Given the description of an element on the screen output the (x, y) to click on. 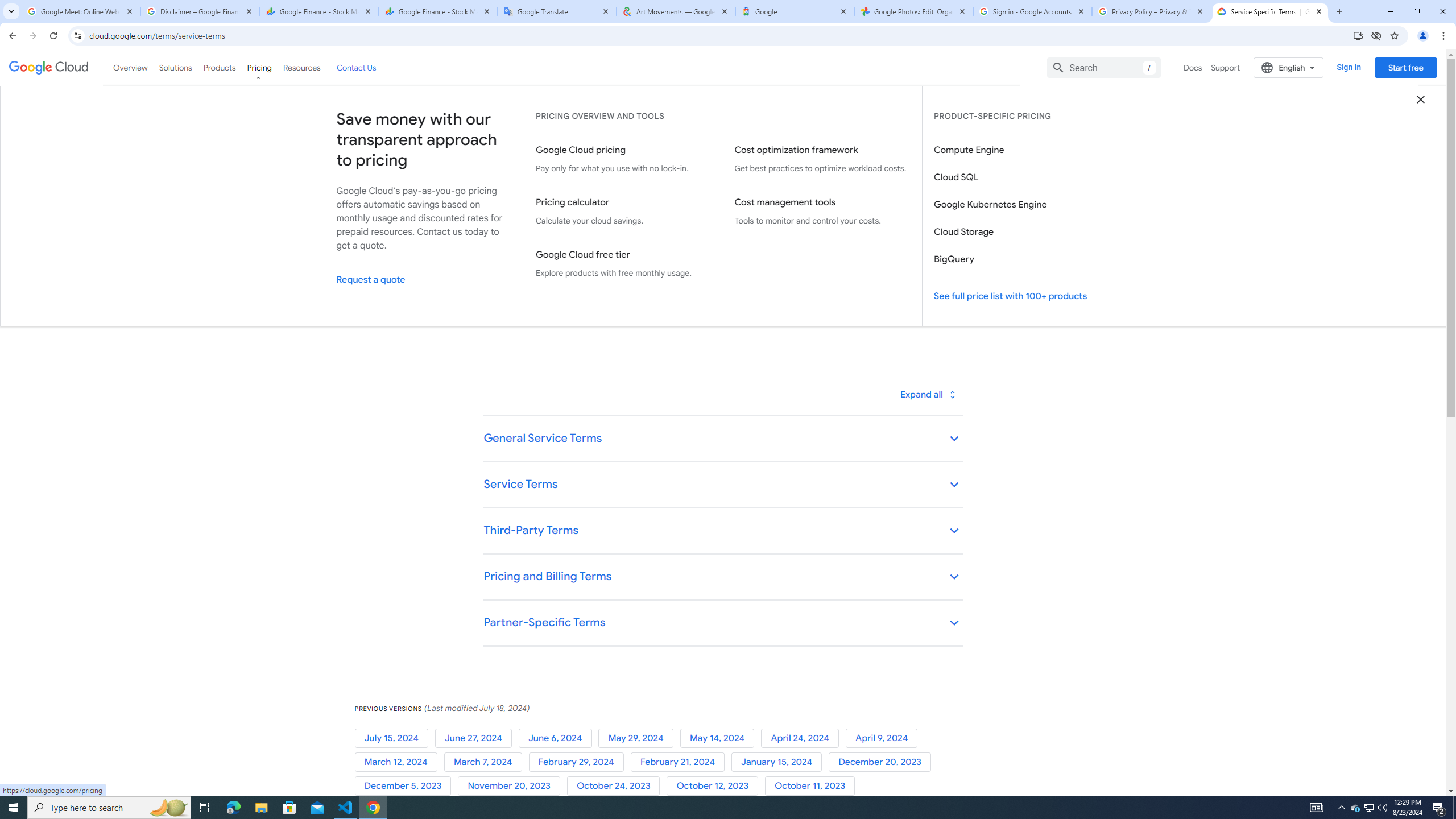
Products (218, 67)
Request a quote (424, 279)
April 24, 2024 (803, 737)
October 24, 2023 (616, 786)
Google Translate (556, 11)
General Service Terms keyboard_arrow_down (722, 439)
April 9, 2024 (883, 737)
Contact Us (355, 67)
Google (794, 11)
